Given the description of an element on the screen output the (x, y) to click on. 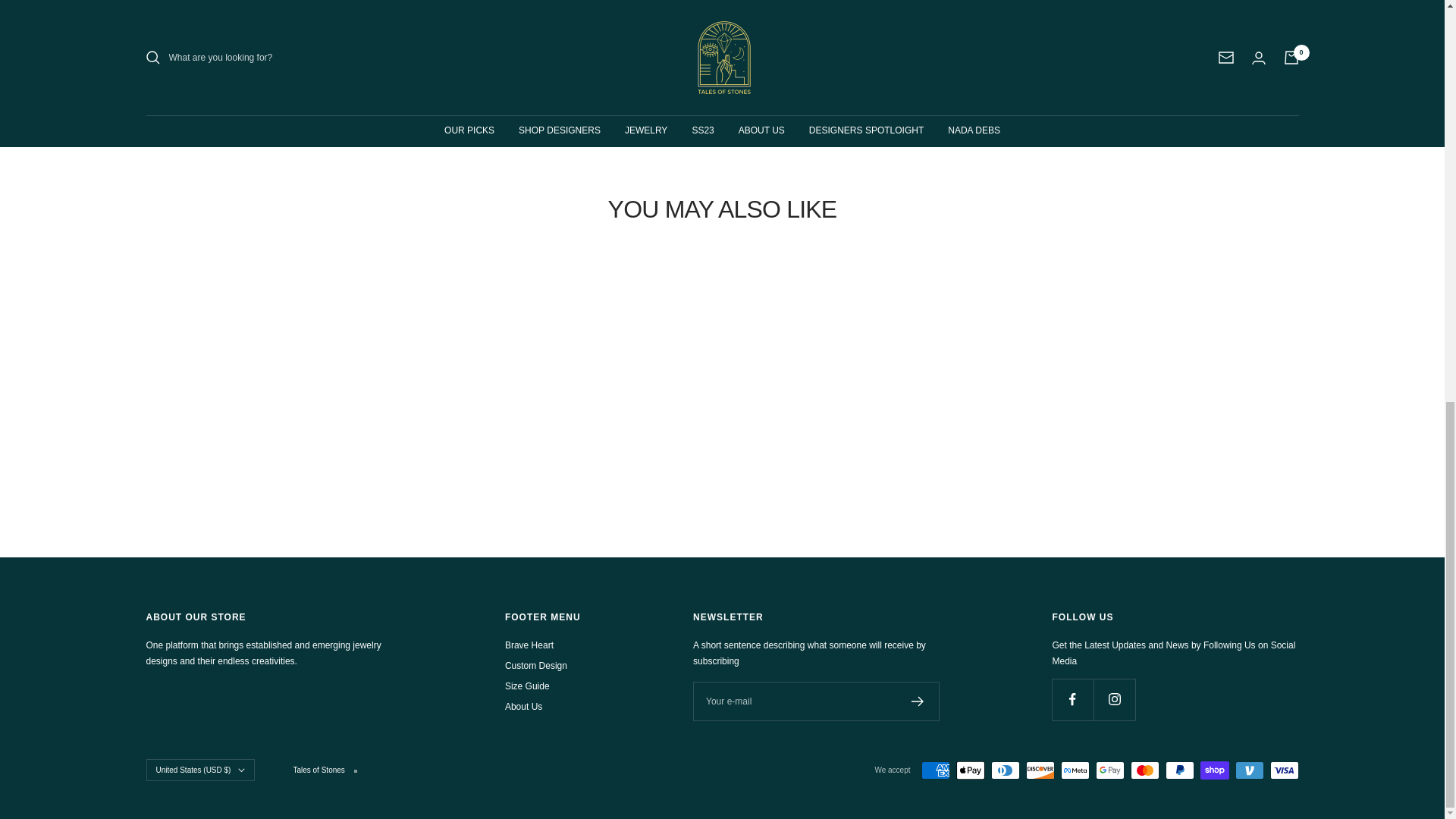
ADD TO CART (722, 38)
Register (917, 701)
